Given the description of an element on the screen output the (x, y) to click on. 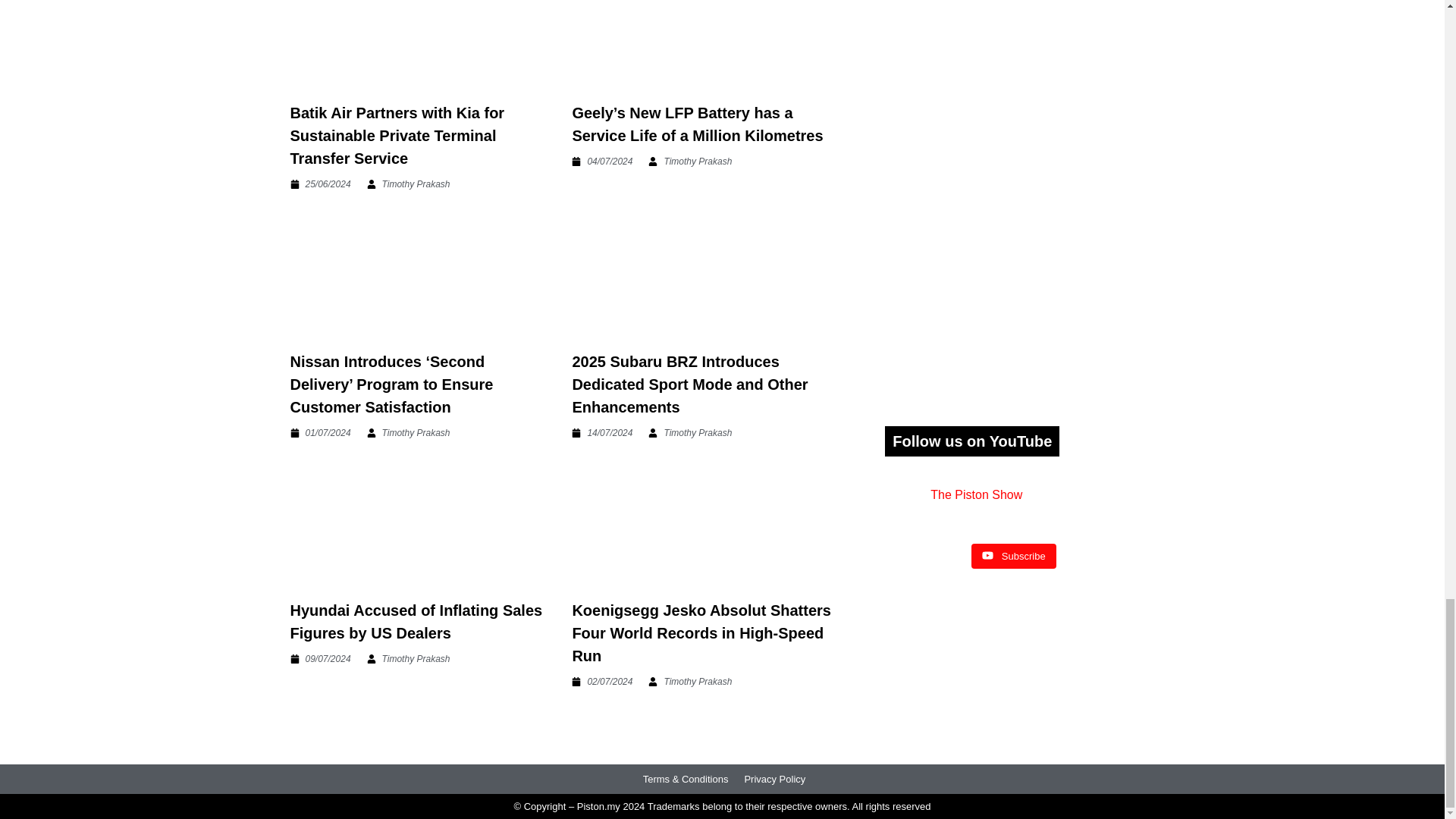
Timothy Prakash (407, 183)
Timothy Prakash (689, 161)
